Given the description of an element on the screen output the (x, y) to click on. 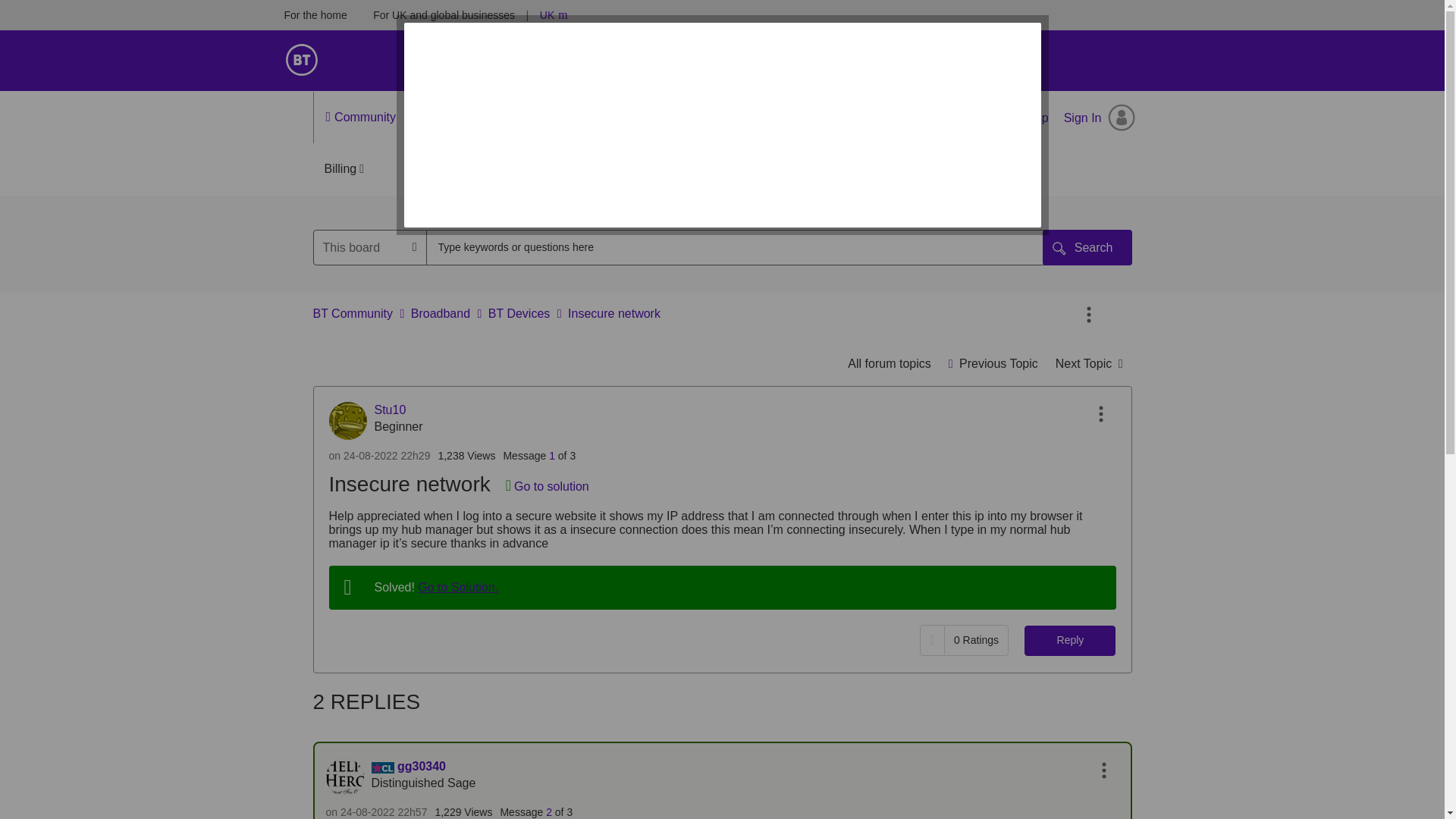
Search (1087, 247)
For the home (314, 15)
Search Granularity (370, 247)
Digitel voice phone (992, 363)
BT Devices (888, 363)
For UK and global businesses (443, 15)
Show option menu (1100, 413)
Show option menu (1088, 314)
The total number of ratings this post has received. (975, 639)
Smart hub 2 failed. (1089, 363)
Stu10 (347, 420)
UK (547, 15)
Search (1087, 247)
Search (742, 247)
